Given the description of an element on the screen output the (x, y) to click on. 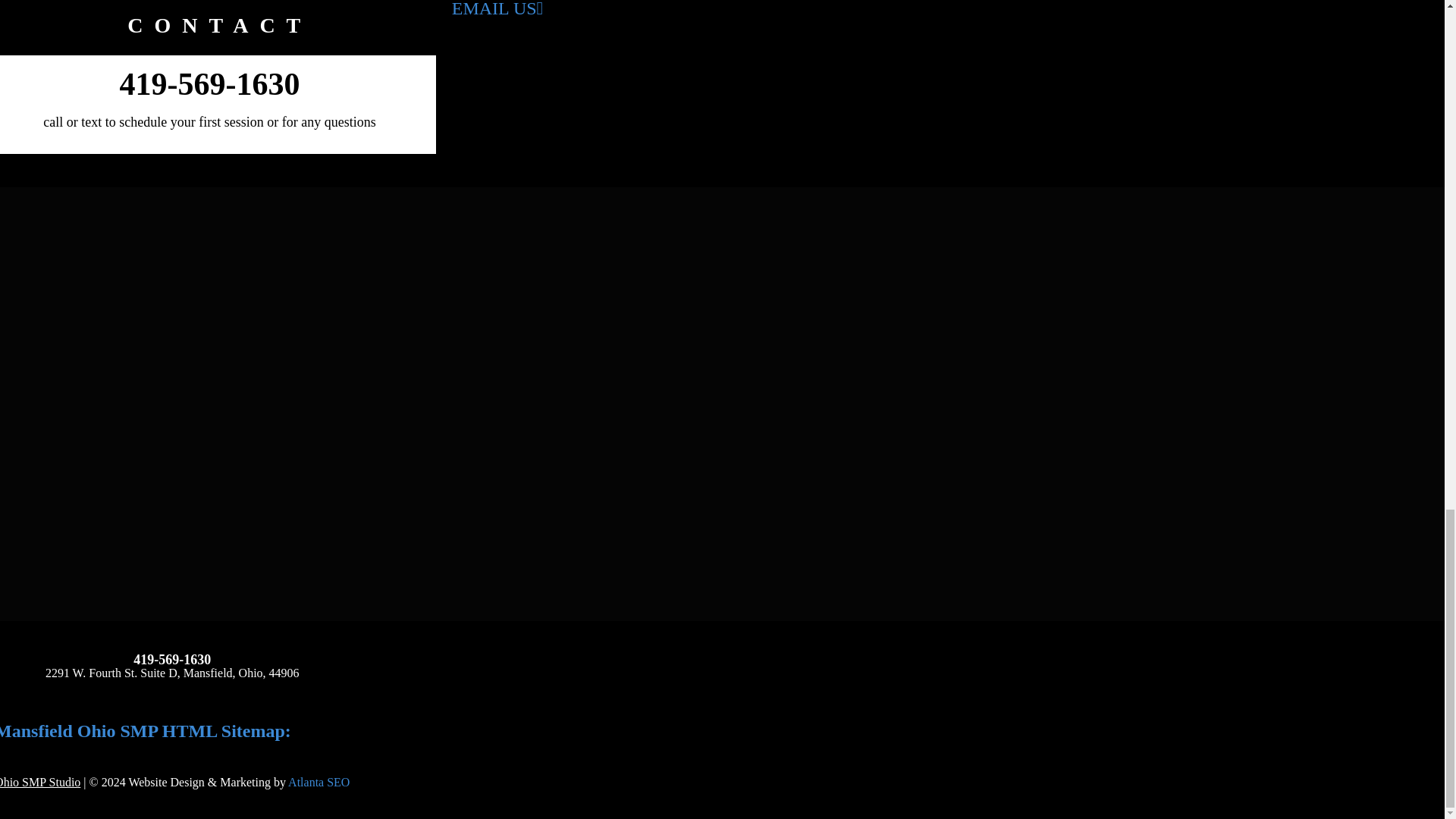
Mansfield Ohio SMP HTML Sitemap: (145, 731)
Atlanta SEO (318, 781)
EMAIL US (497, 11)
Ohio SMP Studio (40, 781)
419-569-1630 (209, 83)
